Given the description of an element on the screen output the (x, y) to click on. 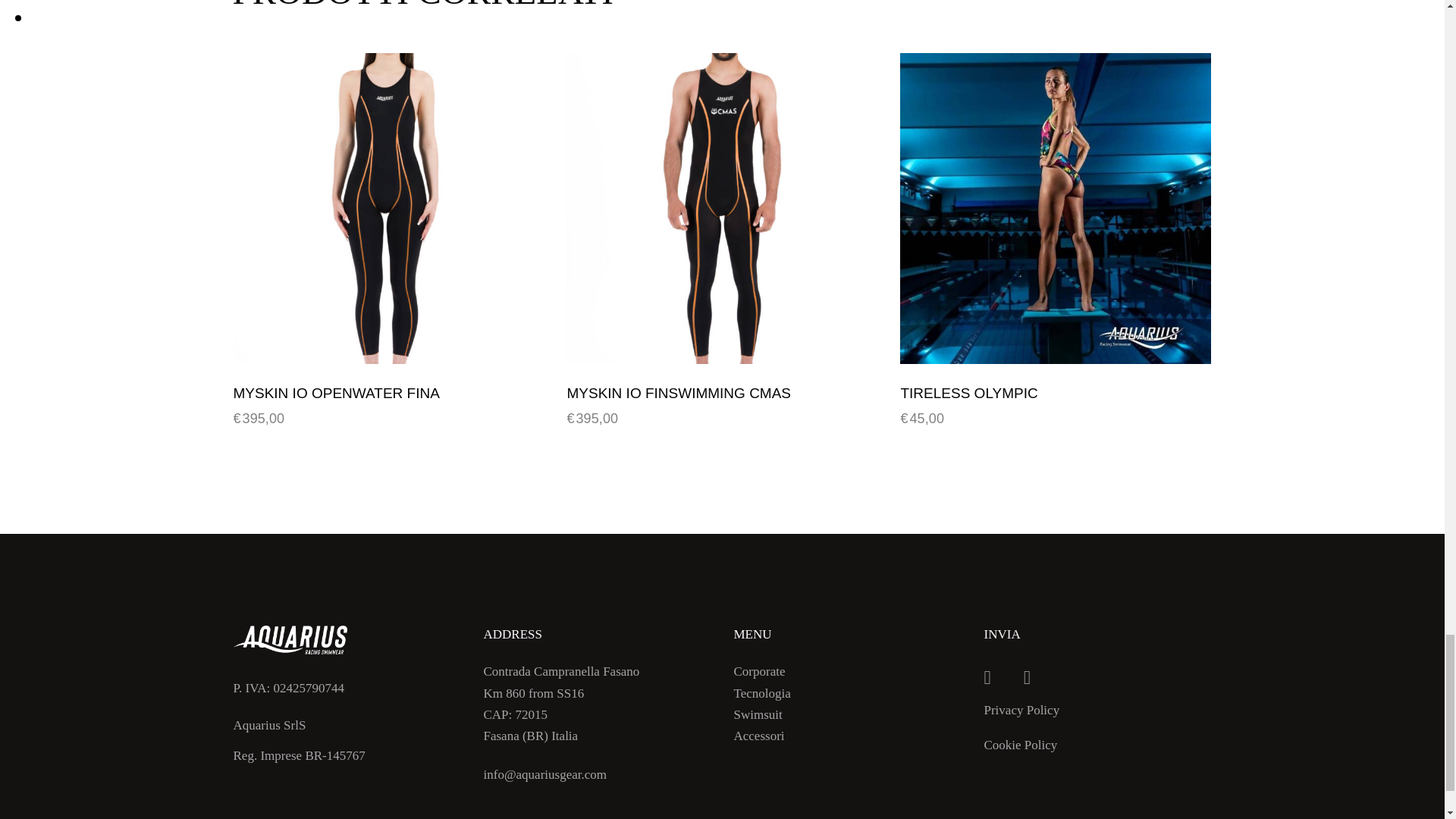
Cookie Policy  (1027, 743)
Privacy Policy  (1027, 709)
